Given the description of an element on the screen output the (x, y) to click on. 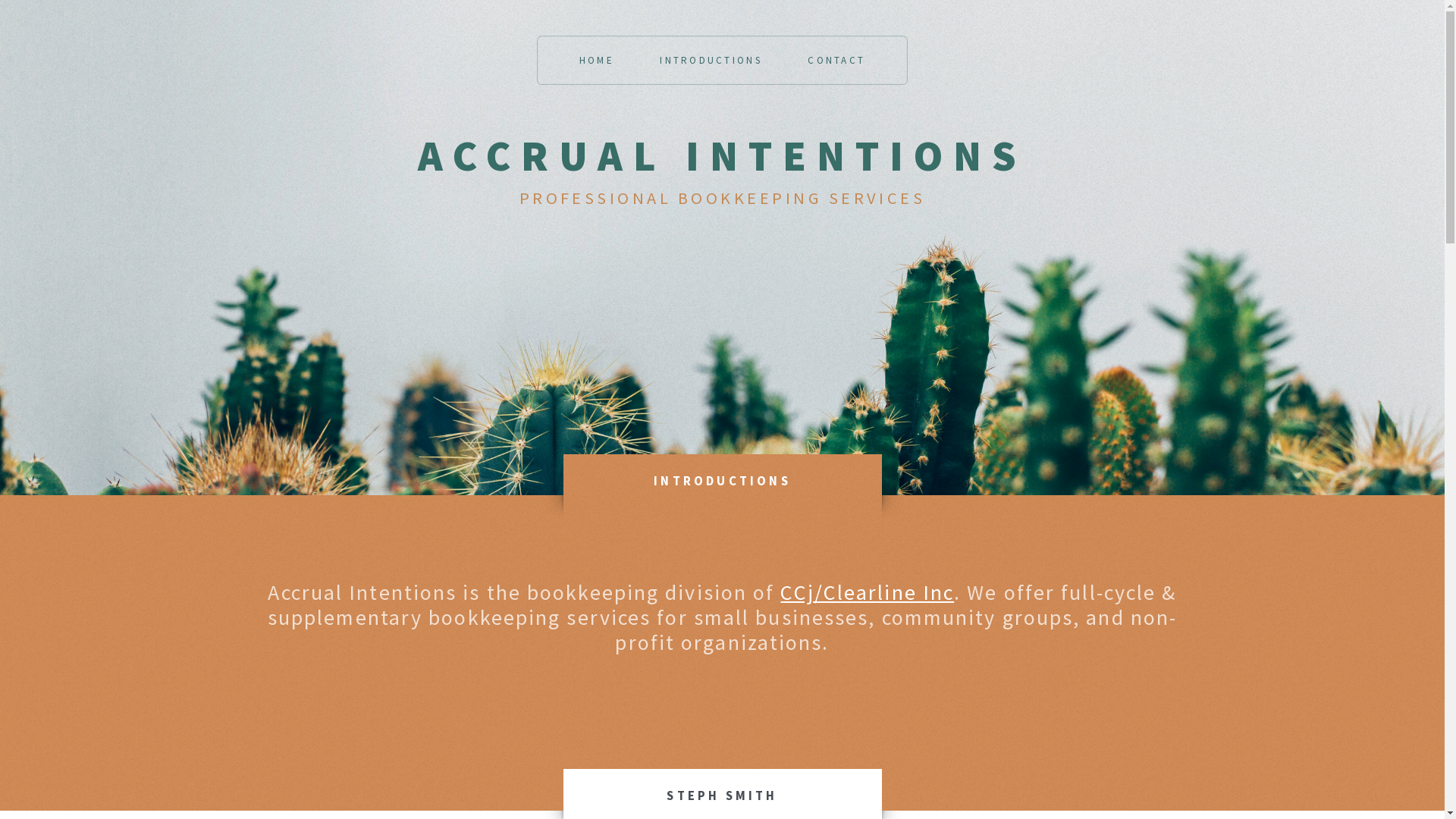
CONTACT Element type: text (836, 59)
ACCRUAL INTENTIONS Element type: text (721, 155)
CCj/Clearline Inc Element type: text (866, 591)
HOME Element type: text (596, 59)
INTRODUCTIONS Element type: text (710, 59)
